Given the description of an element on the screen output the (x, y) to click on. 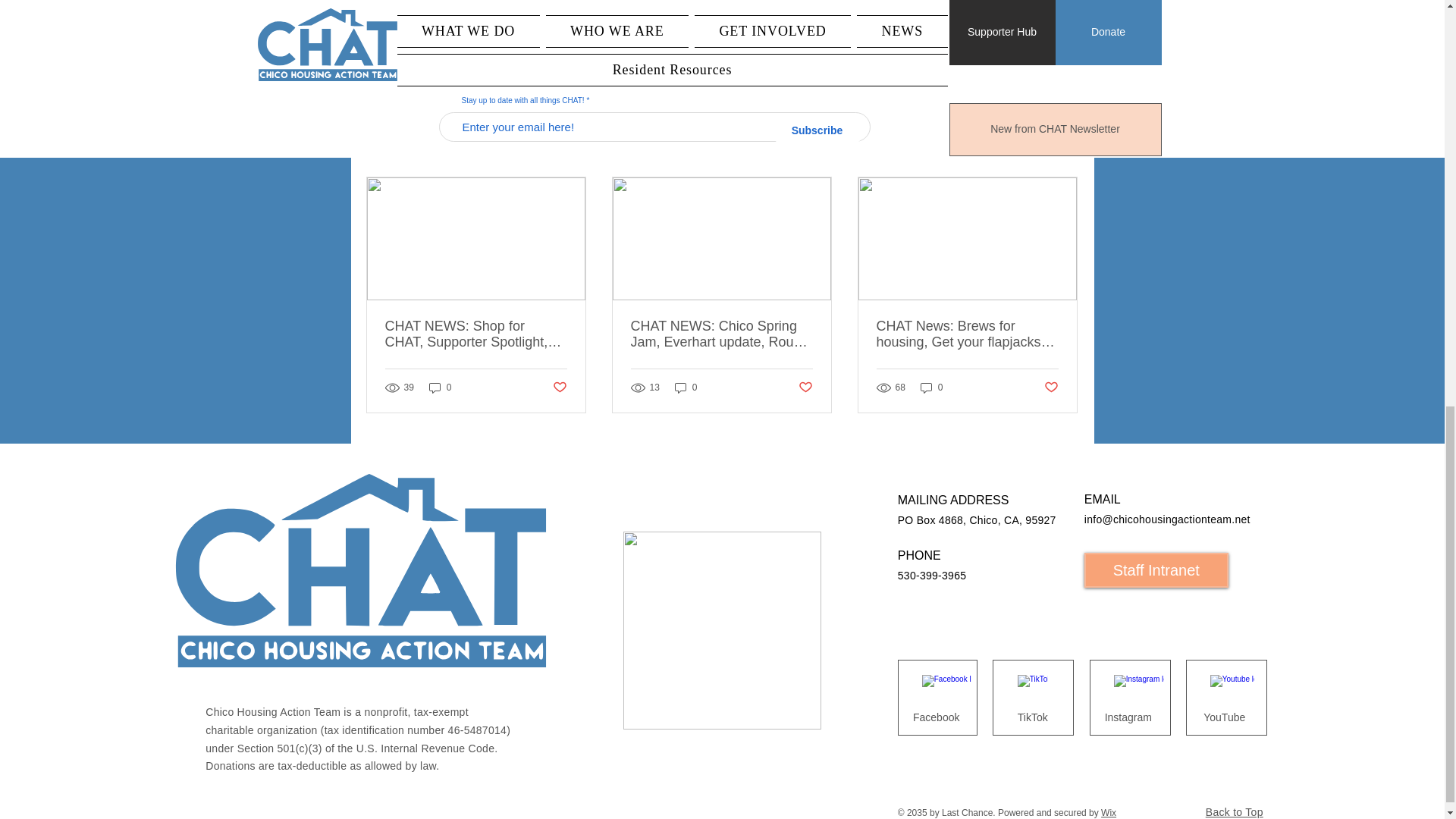
See All (1061, 150)
candid-seal-platinum-2024.png (722, 630)
Post not marked as liked (995, 67)
